Given the description of an element on the screen output the (x, y) to click on. 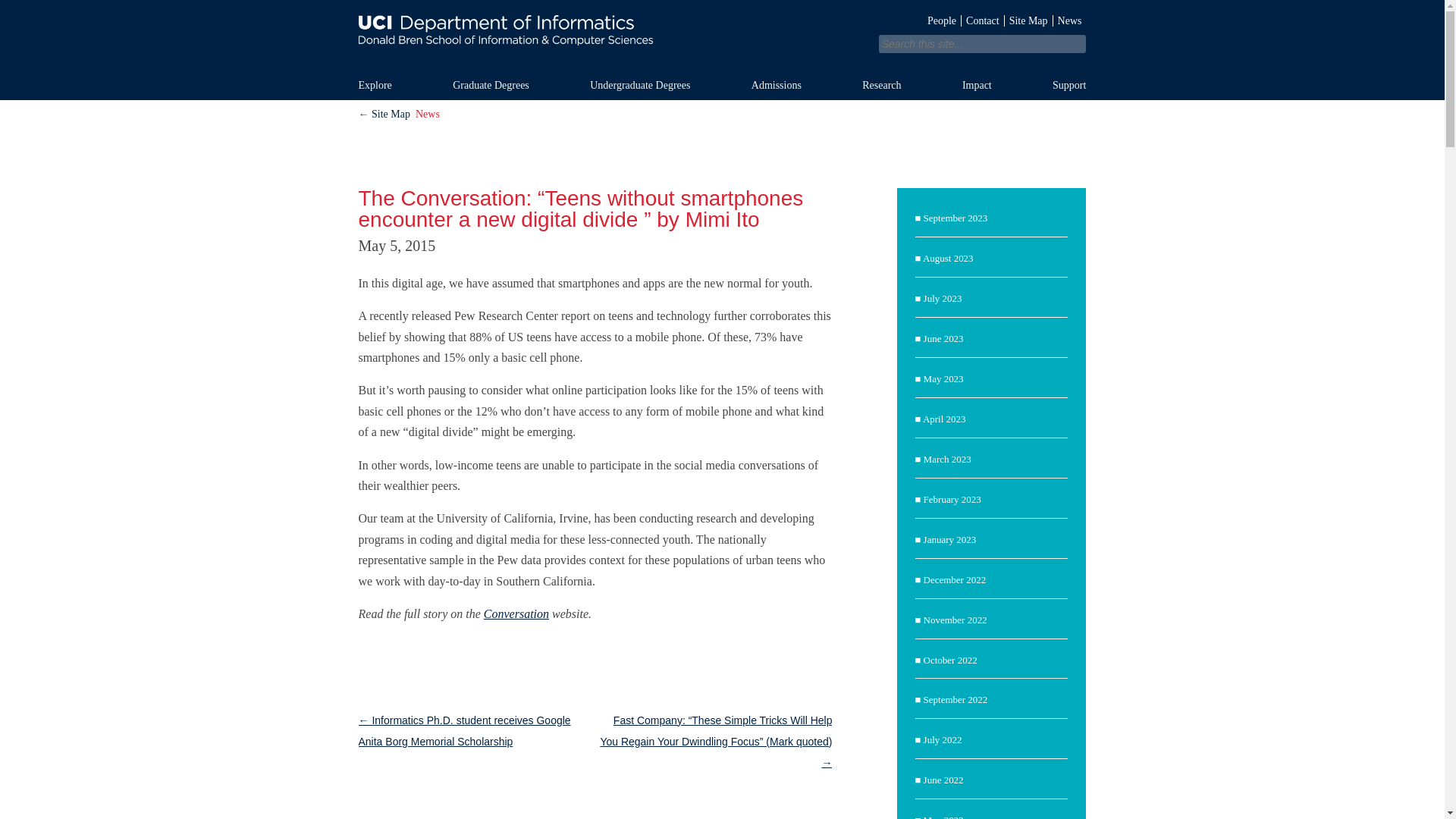
Site Map (1028, 20)
Skip to content (754, 76)
People (941, 20)
Explore (391, 85)
Skip to content (754, 76)
Contact (982, 20)
Graduate Degrees (507, 85)
Search (353, 10)
Undergraduate Degrees (656, 85)
News (1069, 20)
